Given the description of an element on the screen output the (x, y) to click on. 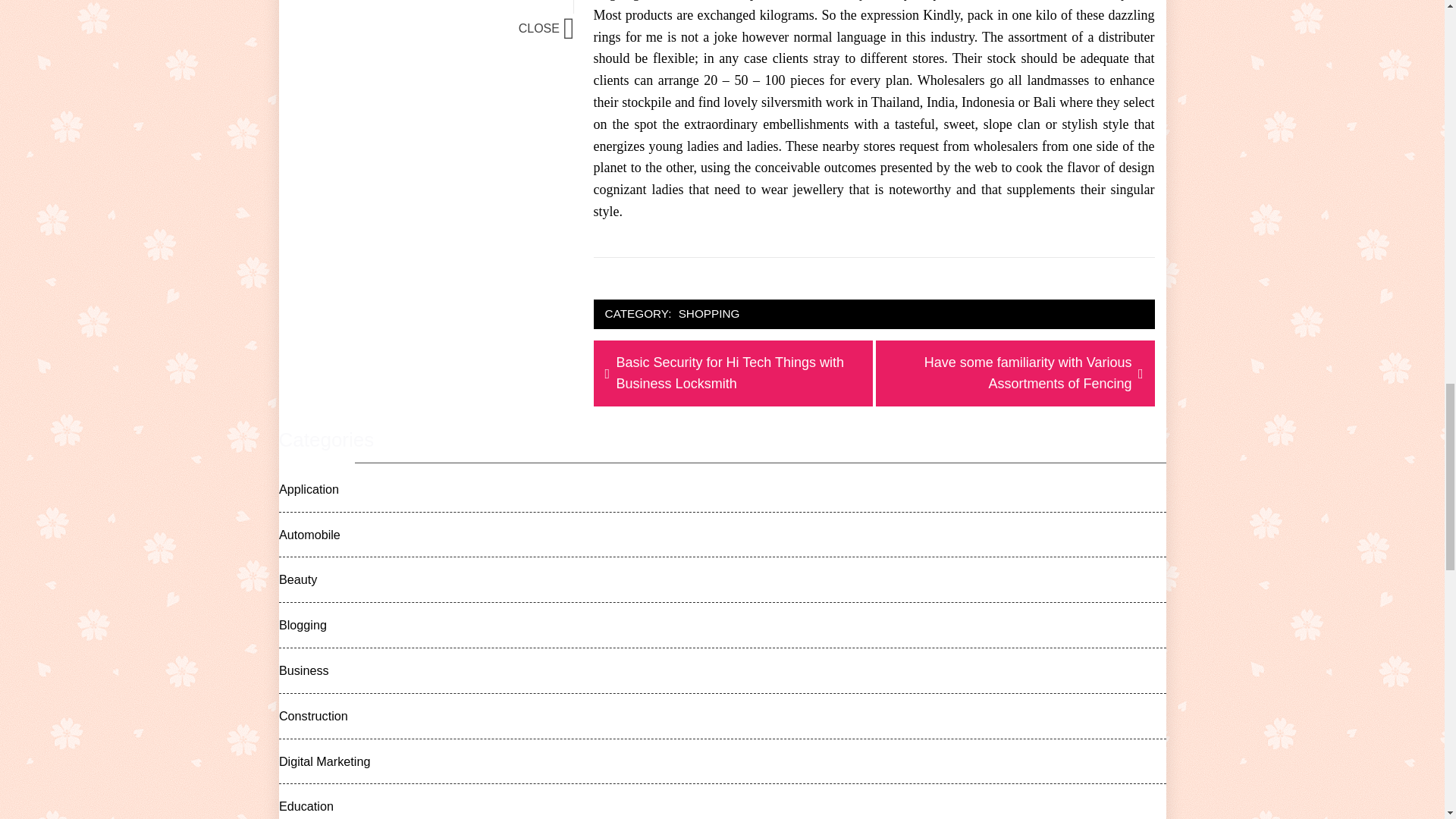
Automobile (307, 535)
SHOPPING (709, 314)
Blogging (300, 625)
Digital Marketing (322, 762)
Beauty (296, 579)
Application (307, 489)
Construction (311, 716)
Business (302, 670)
CLOSE (546, 28)
